Given the description of an element on the screen output the (x, y) to click on. 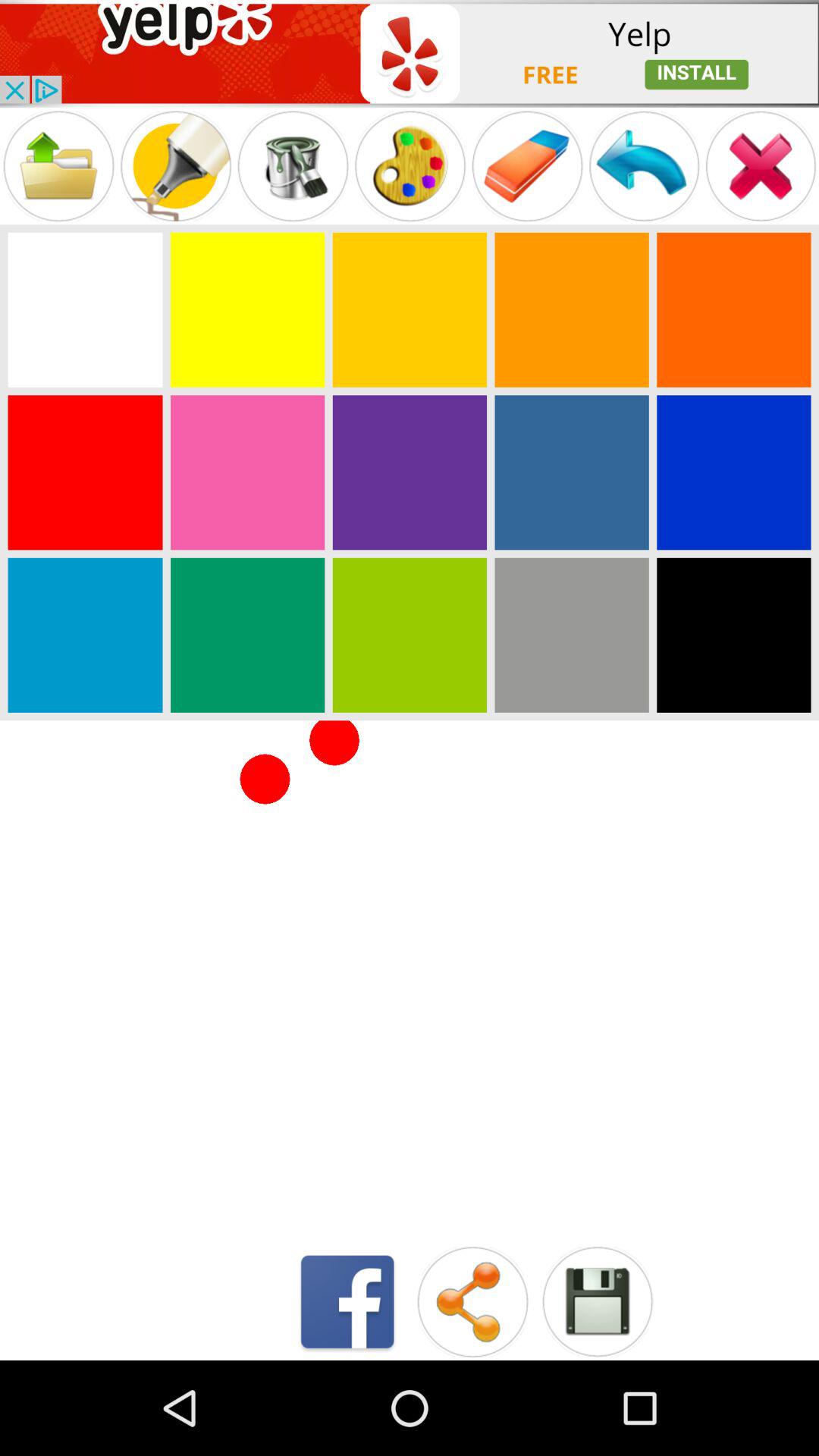
go back button (643, 165)
